Given the description of an element on the screen output the (x, y) to click on. 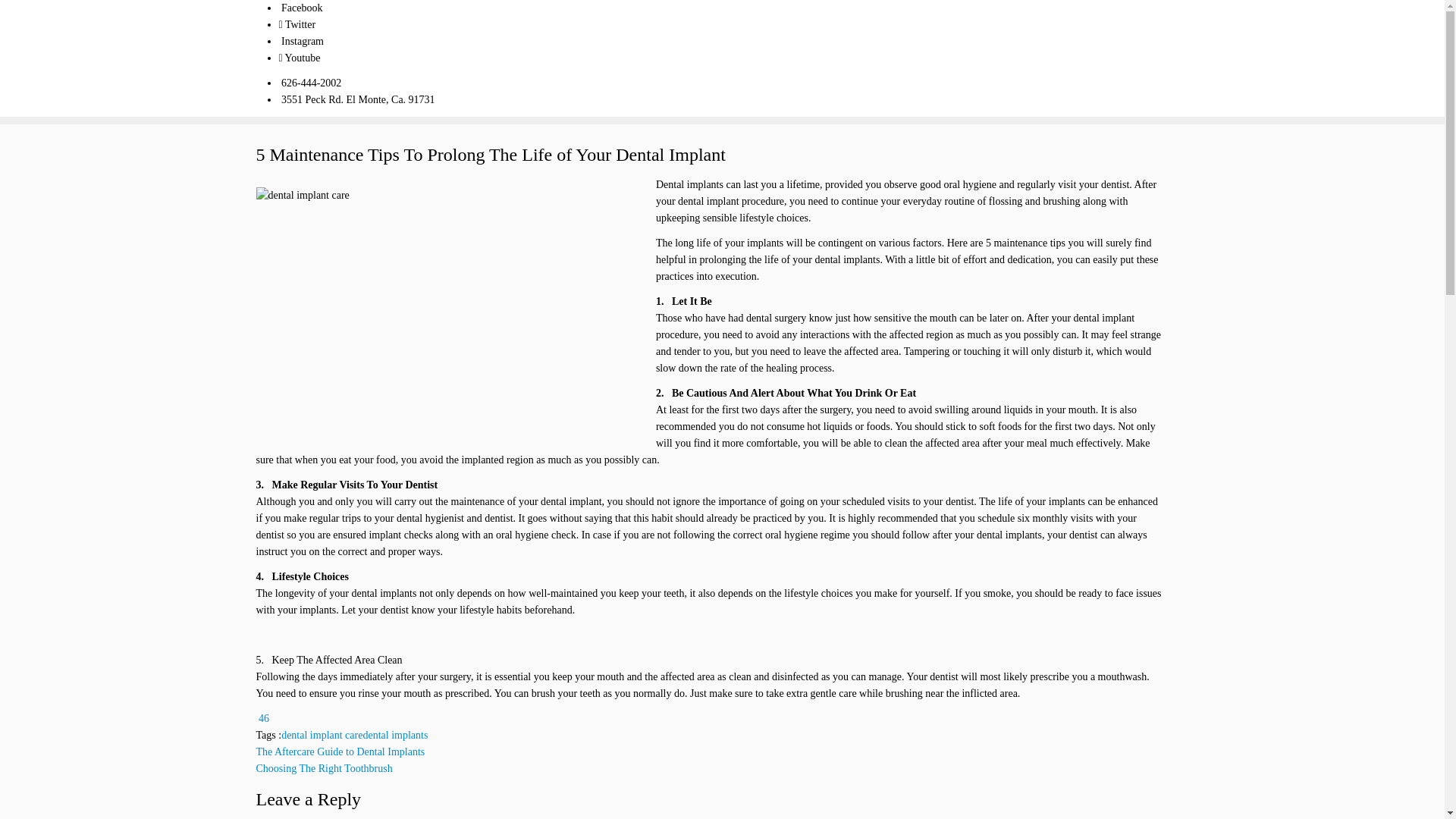
The Aftercare Guide to Dental Implants (340, 751)
dental implant care (321, 735)
Facebook (301, 7)
3551 Peck Rd. El Monte, Ca. 91731 (357, 99)
dental implants (395, 735)
Choosing The Right Toothbrush (324, 767)
Instagram (301, 41)
626-444-2002 (310, 82)
Twitter (297, 24)
Youtube (299, 57)
